Given the description of an element on the screen output the (x, y) to click on. 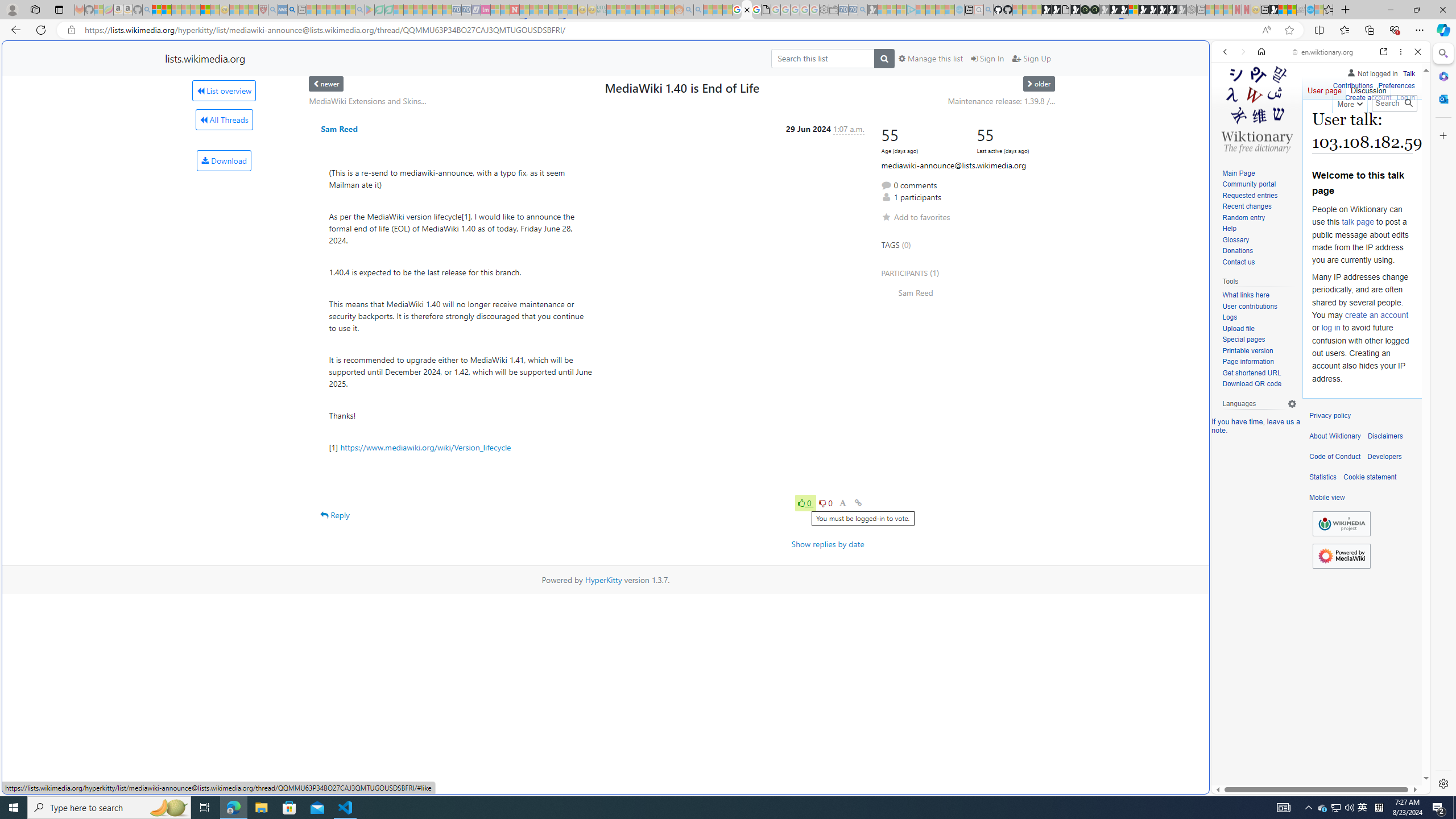
Mobile view (1326, 497)
Cookie statement (1369, 477)
